Given the description of an element on the screen output the (x, y) to click on. 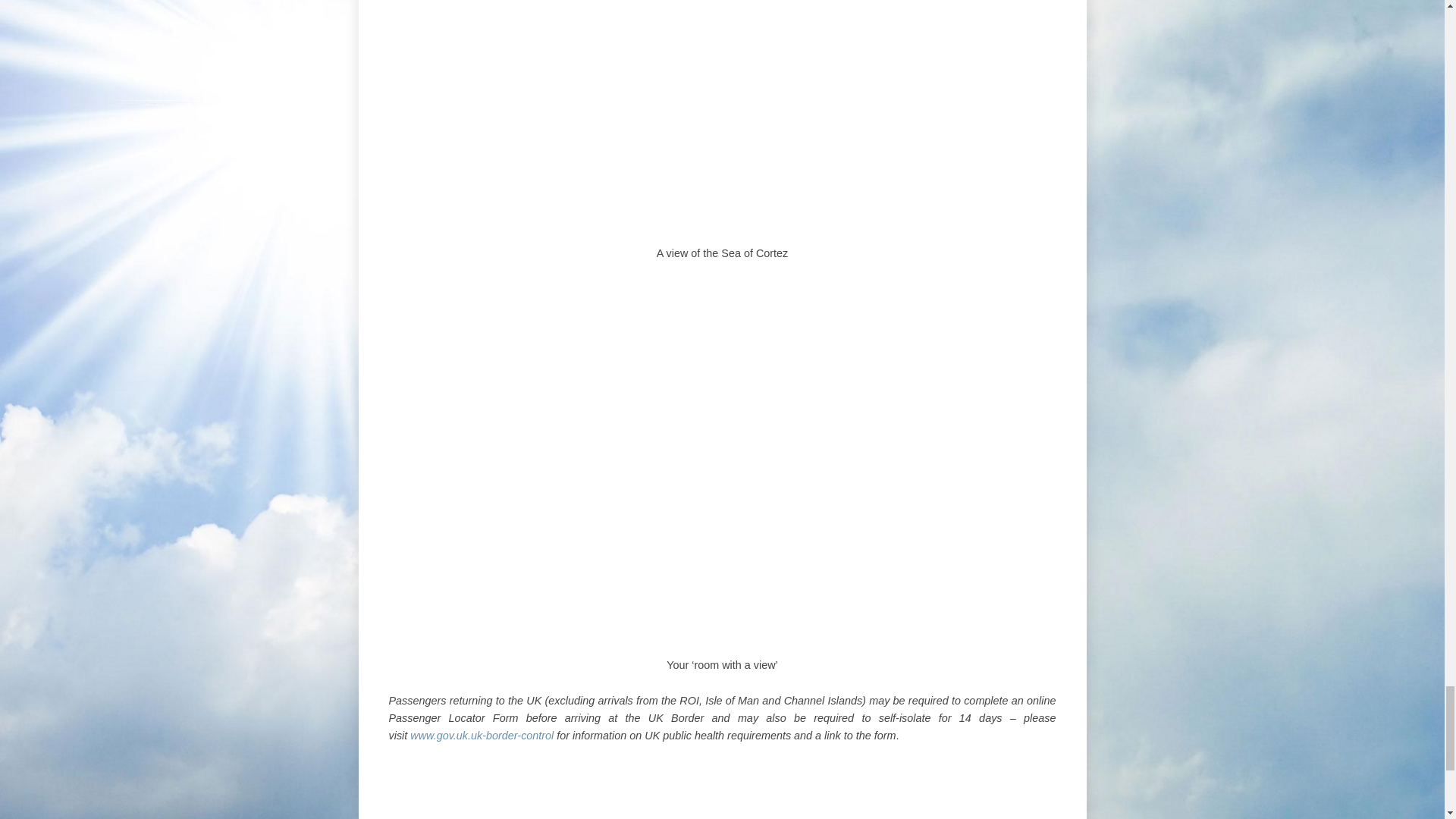
www.gov.uk.uk-border-control (481, 735)
